Given the description of an element on the screen output the (x, y) to click on. 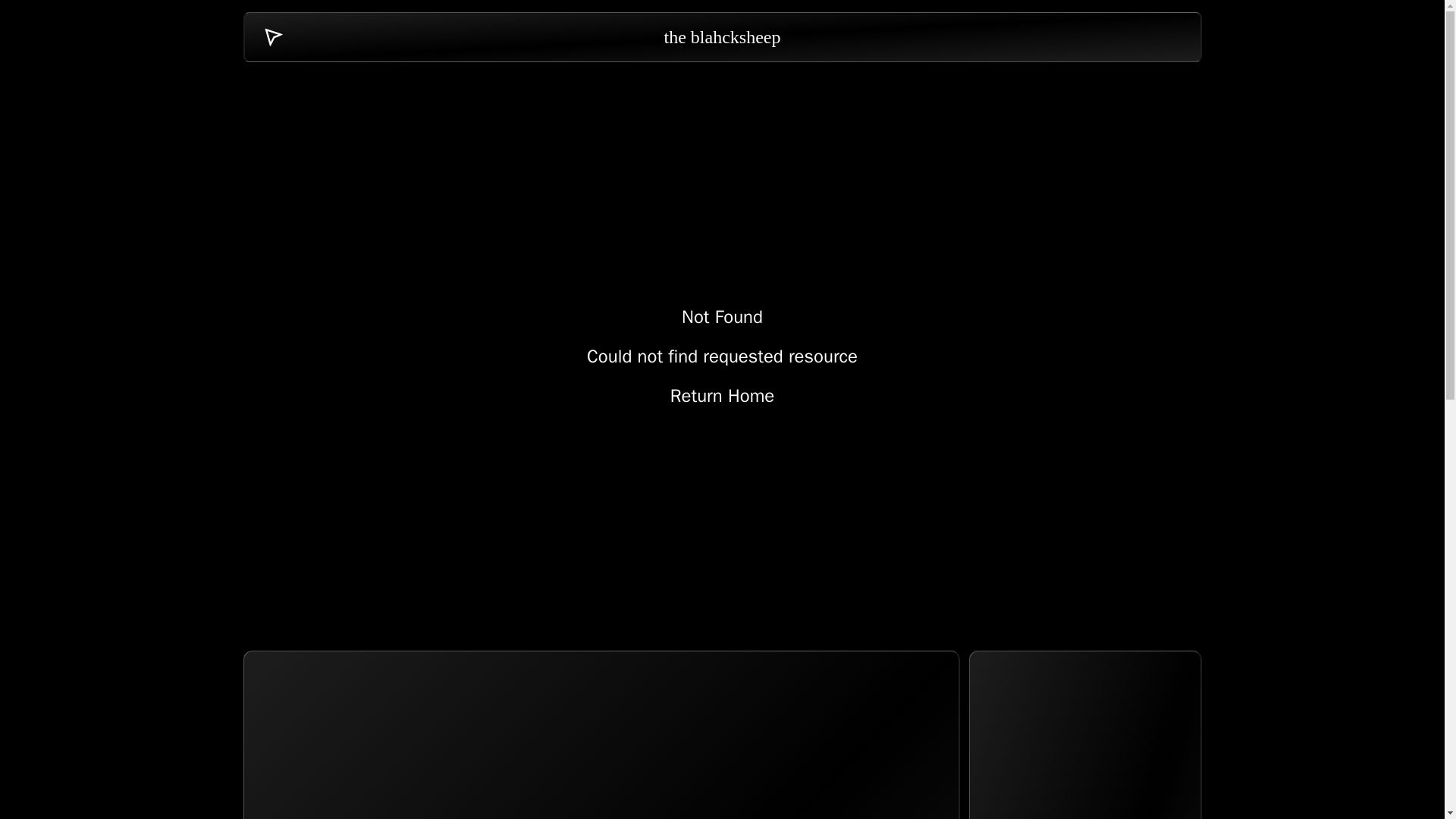
Return Home (601, 734)
